Given the description of an element on the screen output the (x, y) to click on. 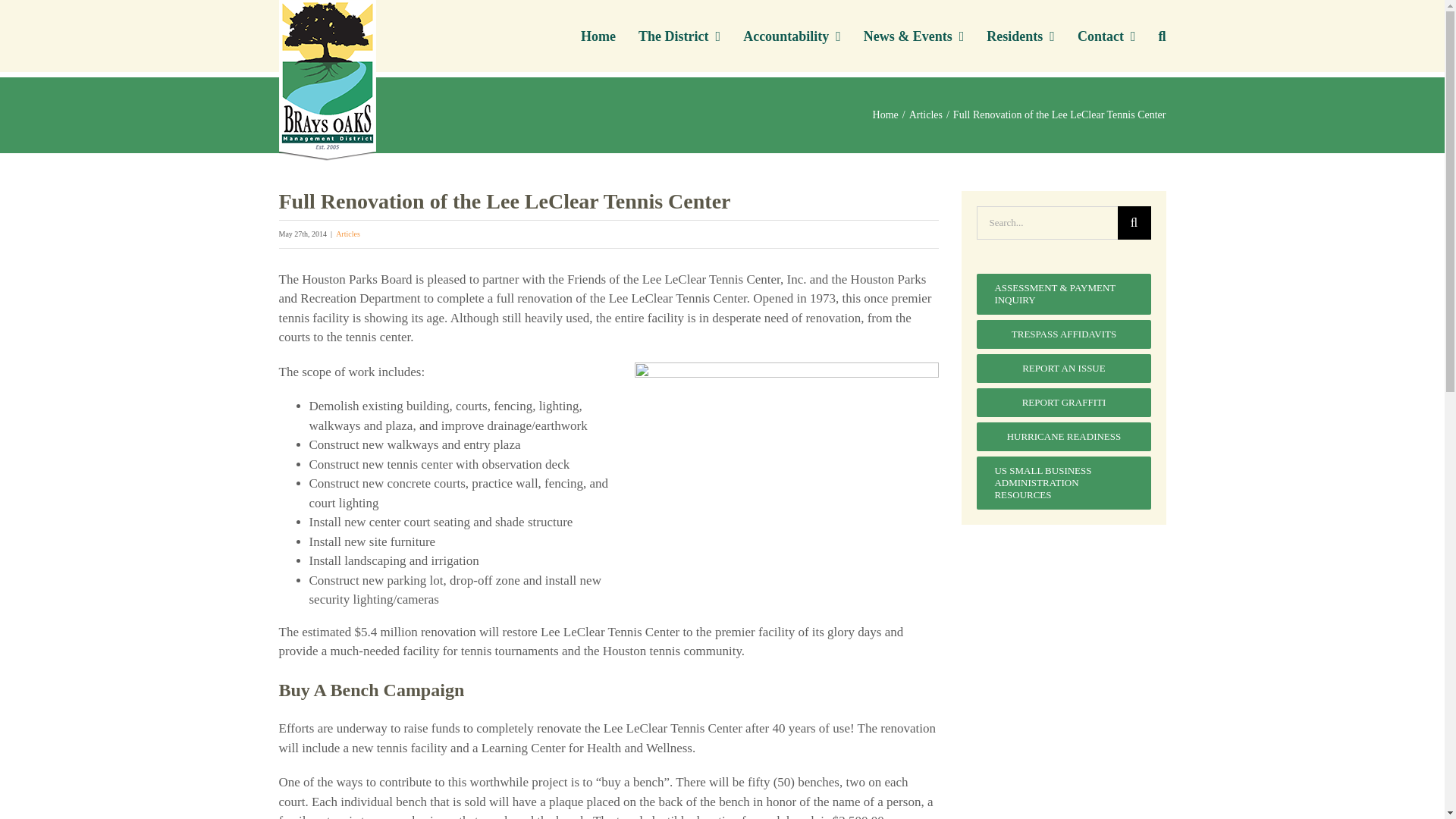
Residents (1020, 36)
Accountability (791, 36)
The District (679, 36)
